Given the description of an element on the screen output the (x, y) to click on. 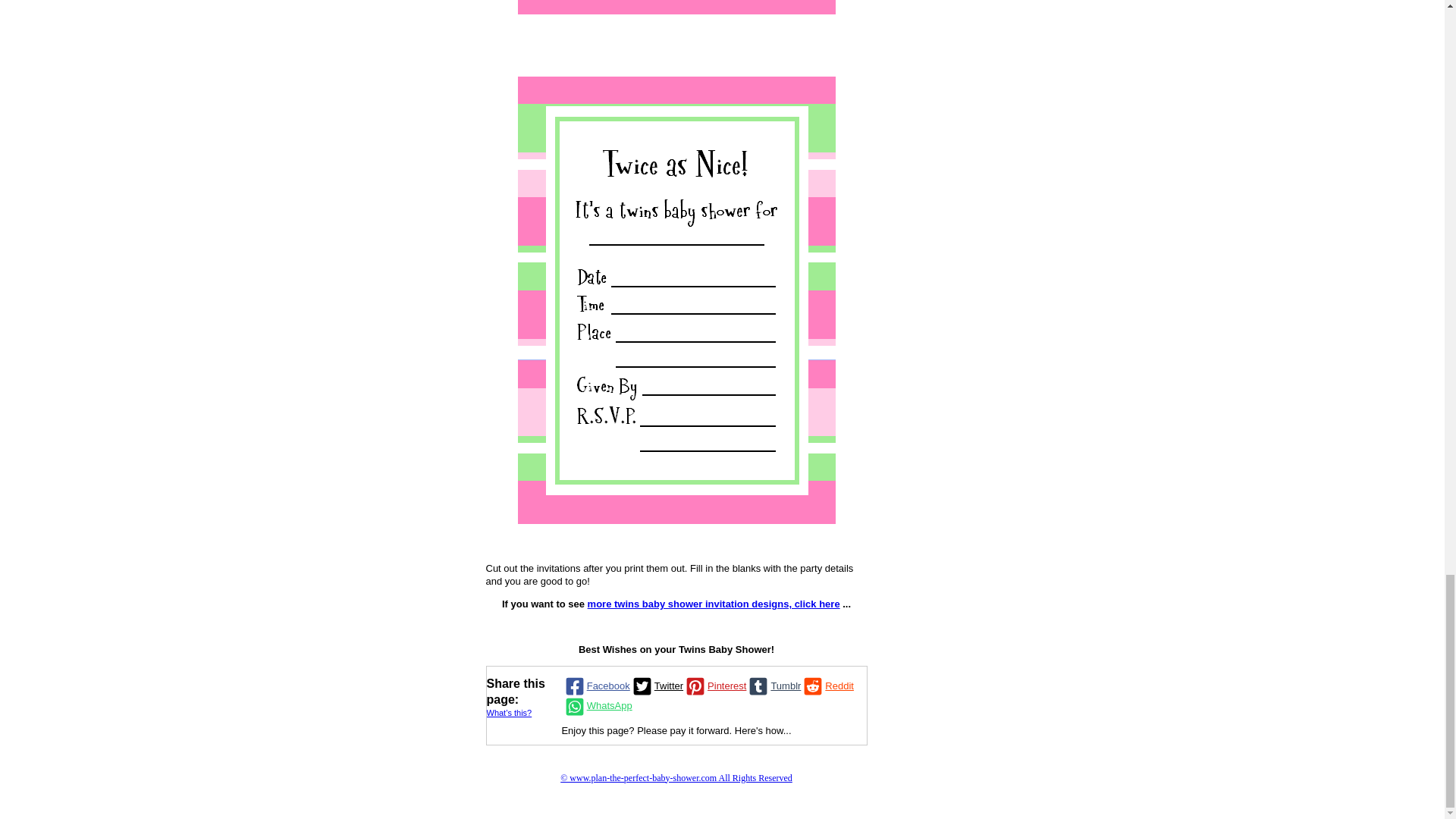
more twins baby shower invitation designs, click here (714, 603)
Twins baby shower invitation (675, 7)
More cute twins baby shower invitations (714, 603)
Facebook (596, 686)
www.plan-the-perfect-baby-shower.com (676, 777)
